Given the description of an element on the screen output the (x, y) to click on. 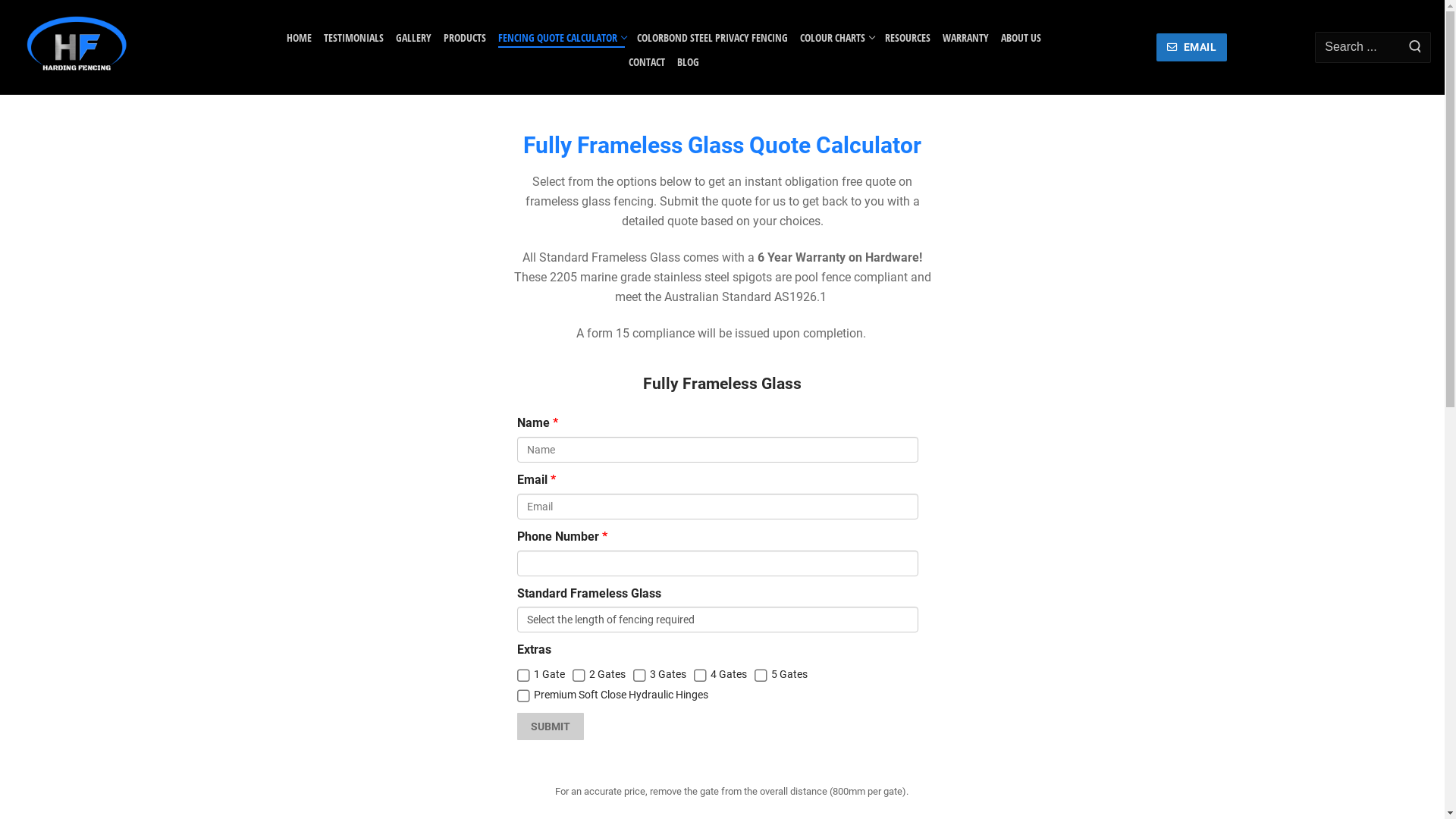
GALLERY Element type: text (413, 33)
COLOUR CHARTS
  Element type: text (836, 33)
ABOUT US Element type: text (1020, 33)
BLOG Element type: text (687, 56)
COLORBOND STEEL PRIVACY FENCING Element type: text (712, 33)
EMAIL Element type: text (1191, 47)
RESOURCES Element type: text (907, 33)
SUBMIT Element type: text (550, 726)
HOME Element type: text (299, 33)
WARRANTY Element type: text (965, 33)
FENCING QUOTE CALCULATOR
  Element type: text (561, 33)
PRODUCTS Element type: text (464, 33)
TESTIMONIALS Element type: text (353, 33)
Search for: Element type: hover (1372, 46)
CONTACT Element type: text (646, 56)
